Given the description of an element on the screen output the (x, y) to click on. 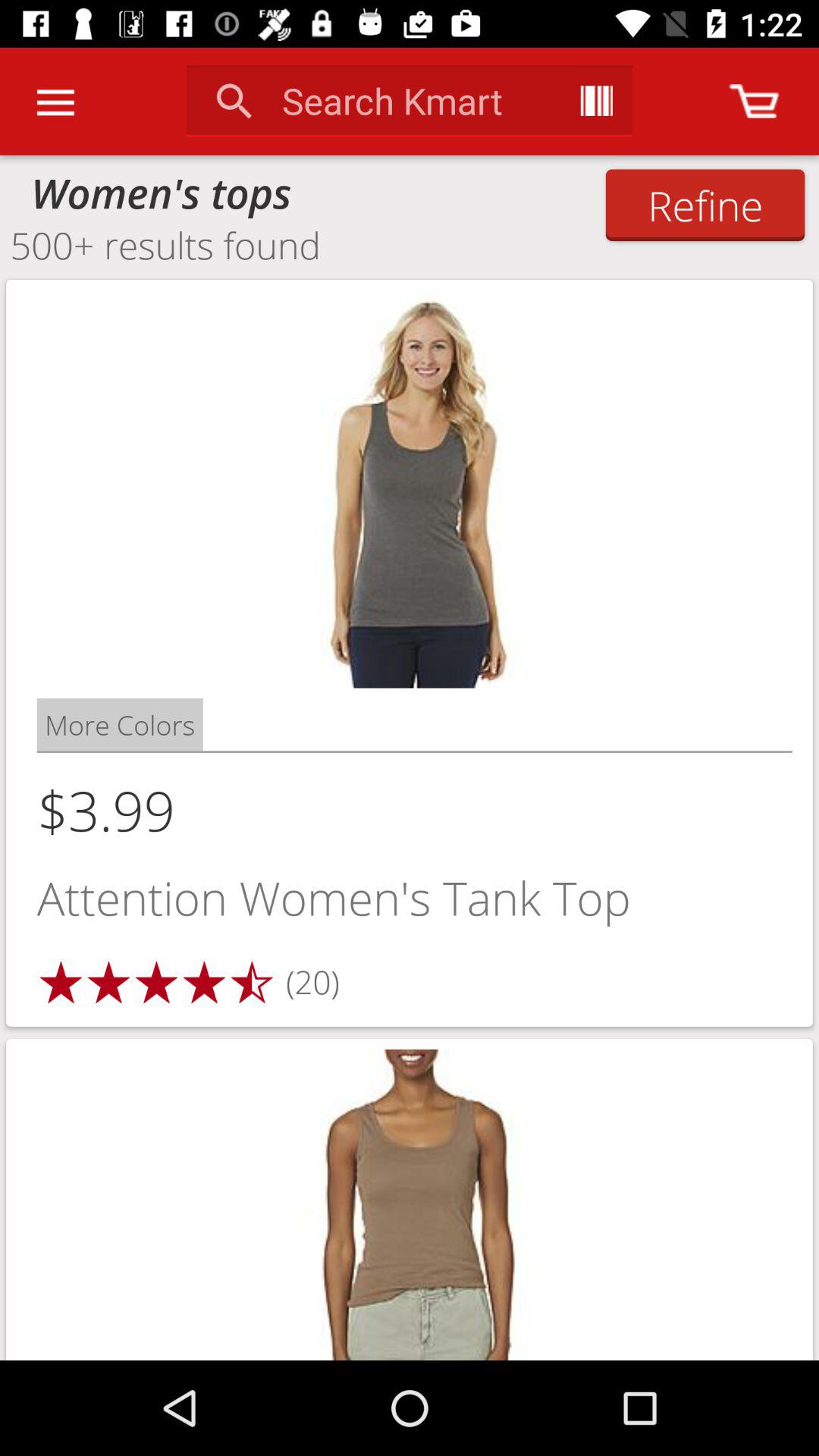
open shopping basket (754, 101)
